Given the description of an element on the screen output the (x, y) to click on. 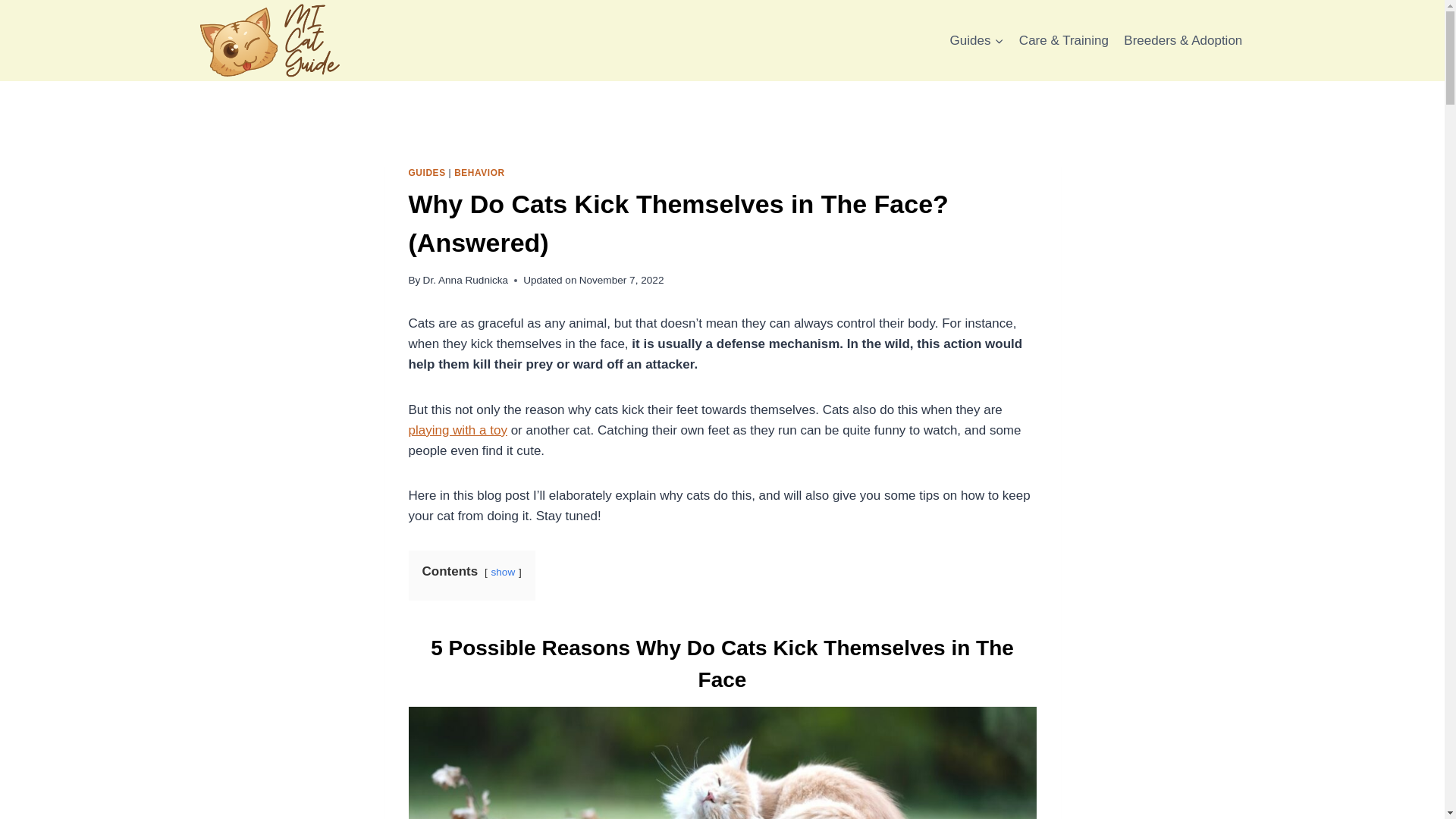
BEHAVIOR (479, 172)
show (502, 572)
Guides (976, 40)
Dr. Anna Rudnicka (465, 279)
playing with a toy (456, 430)
GUIDES (426, 172)
